Given the description of an element on the screen output the (x, y) to click on. 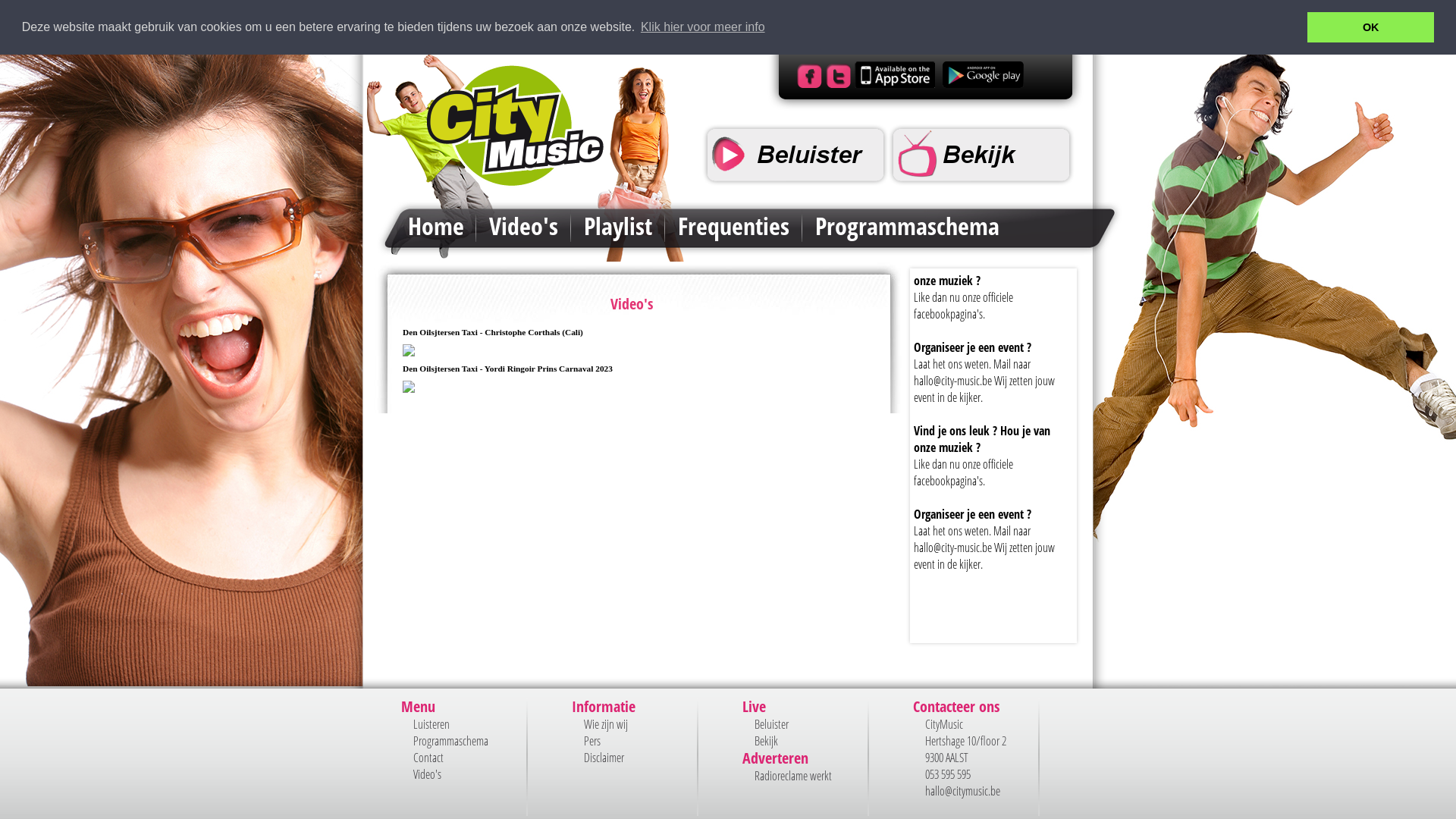
Contact Element type: text (428, 757)
Klik hier voor meer info Element type: text (702, 26)
Video's Element type: text (523, 225)
Pers Element type: text (591, 740)
Disclaimer Element type: text (603, 757)
OK Element type: text (1370, 27)
Home Element type: text (435, 225)
Video's Element type: text (427, 773)
Frequenties Element type: text (733, 225)
Bekijk Element type: text (766, 740)
Wie zijn wij Element type: text (605, 723)
Beluister Element type: text (771, 723)
Luister naar City-Music op Android via de belgie.fm app Element type: hover (981, 82)
Programmaschema Element type: text (906, 225)
Programmaschema Element type: text (450, 740)
Facebook Group Element type: hover (807, 82)
Playlist Element type: text (617, 225)
Luisteren Element type: text (431, 723)
Radioreclame werkt Element type: text (792, 775)
